Given the description of an element on the screen output the (x, y) to click on. 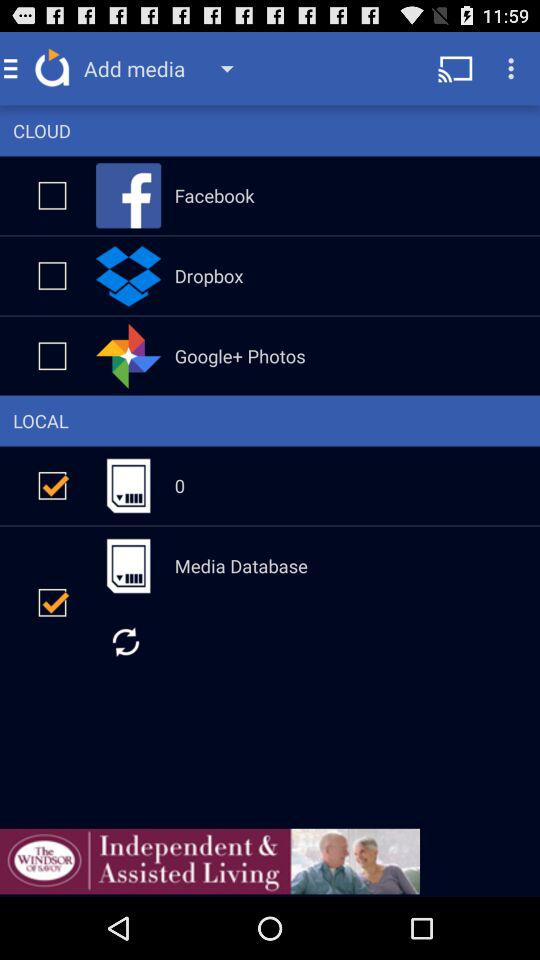
check media database (52, 602)
